Given the description of an element on the screen output the (x, y) to click on. 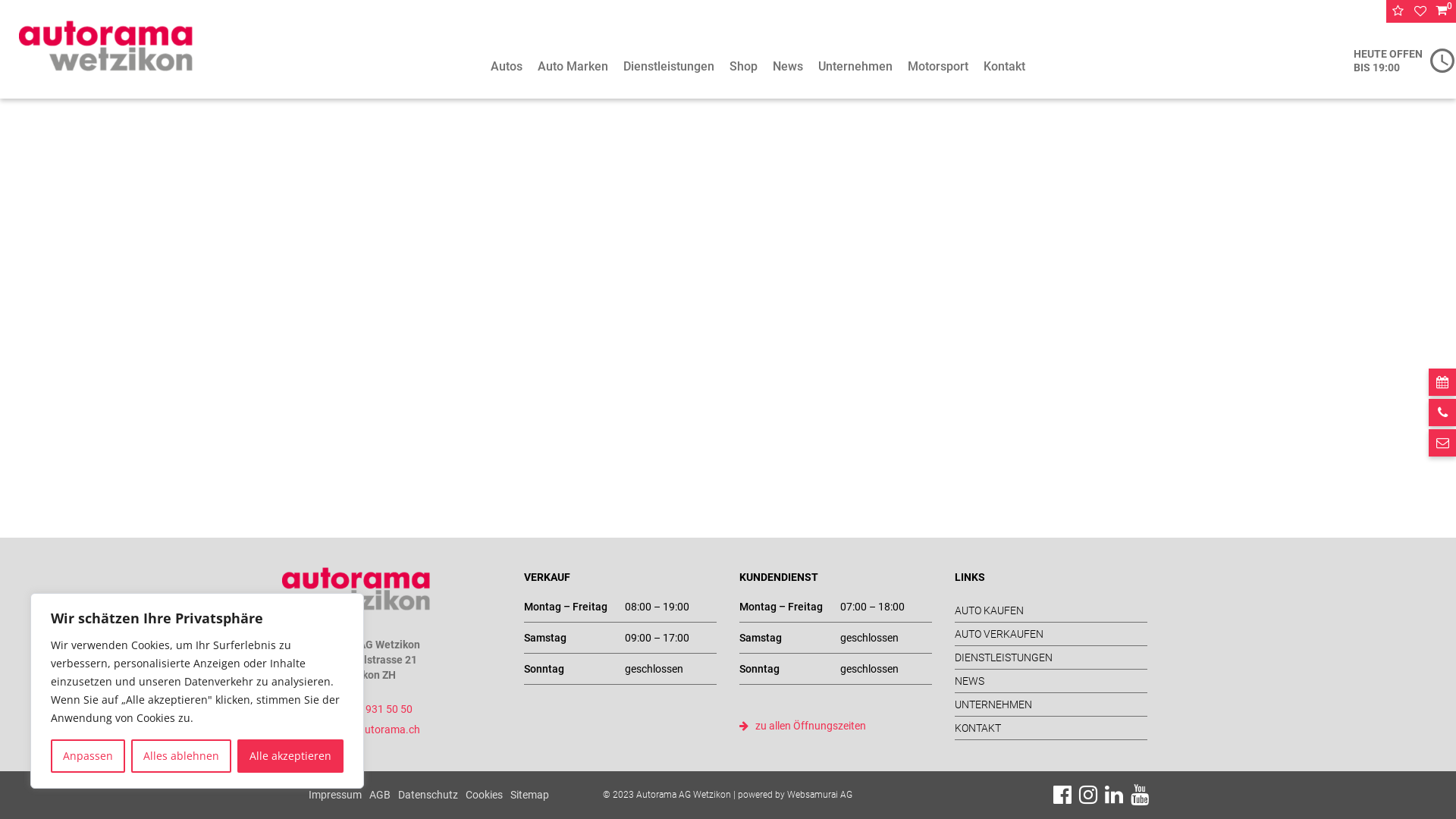
Autorama AG Wetzikon Element type: text (105, 45)
Anpassen Element type: text (87, 755)
Search Element type: text (1417, 11)
favorite Element type: text (1397, 11)
AUTO KAUFEN Element type: text (1050, 610)
Datenschutz Element type: text (428, 794)
NEWS Element type: text (1050, 680)
Sitemap Element type: text (529, 794)
Neuwagensuche Abonnieren Element type: text (702, 290)
facebook Element type: text (1062, 794)
Motorsport Element type: text (937, 65)
AGB Element type: text (379, 794)
youtube Element type: text (1139, 794)
Alle akzeptieren Element type: text (290, 755)
Shop Element type: text (743, 65)
Unternehmen Element type: text (855, 65)
merkliste Element type: text (1419, 11)
KONTAKT Element type: text (1050, 727)
News Element type: text (787, 65)
Cookies Element type: text (483, 794)
AUTO VERKAUFEN Element type: text (1050, 633)
info@autorama.ch Element type: text (364, 729)
Kontakt Element type: text (1004, 65)
Auto Marken Element type: text (572, 65)
Dienstleistungen Element type: text (668, 65)
UNTERNEHMEN Element type: text (1050, 704)
+41 44 931 50 50 Element type: text (360, 708)
HEUTE OFFEN
BIS 19:00 Element type: text (1403, 60)
Autos Element type: text (506, 65)
Impressum Element type: text (334, 794)
instagram Element type: text (1088, 794)
linkedin Element type: text (1113, 794)
Autorama AG Wetzikon Element type: text (355, 588)
DIENSTLEISTUNGEN Element type: text (1050, 657)
Alles ablehnen Element type: text (181, 755)
